Given the description of an element on the screen output the (x, y) to click on. 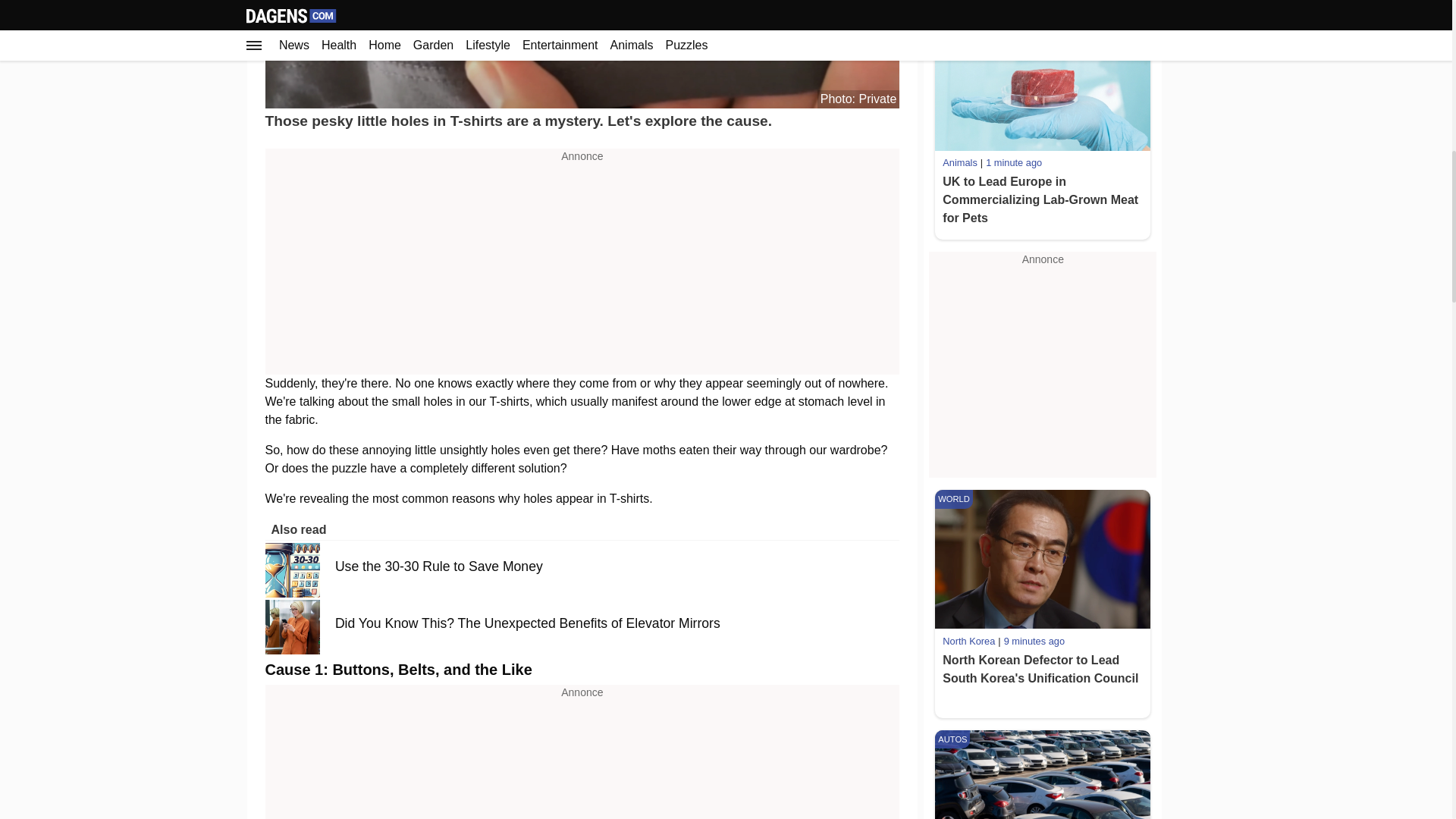
Use the 30-30 Rule to Save Money (439, 567)
